Given the description of an element on the screen output the (x, y) to click on. 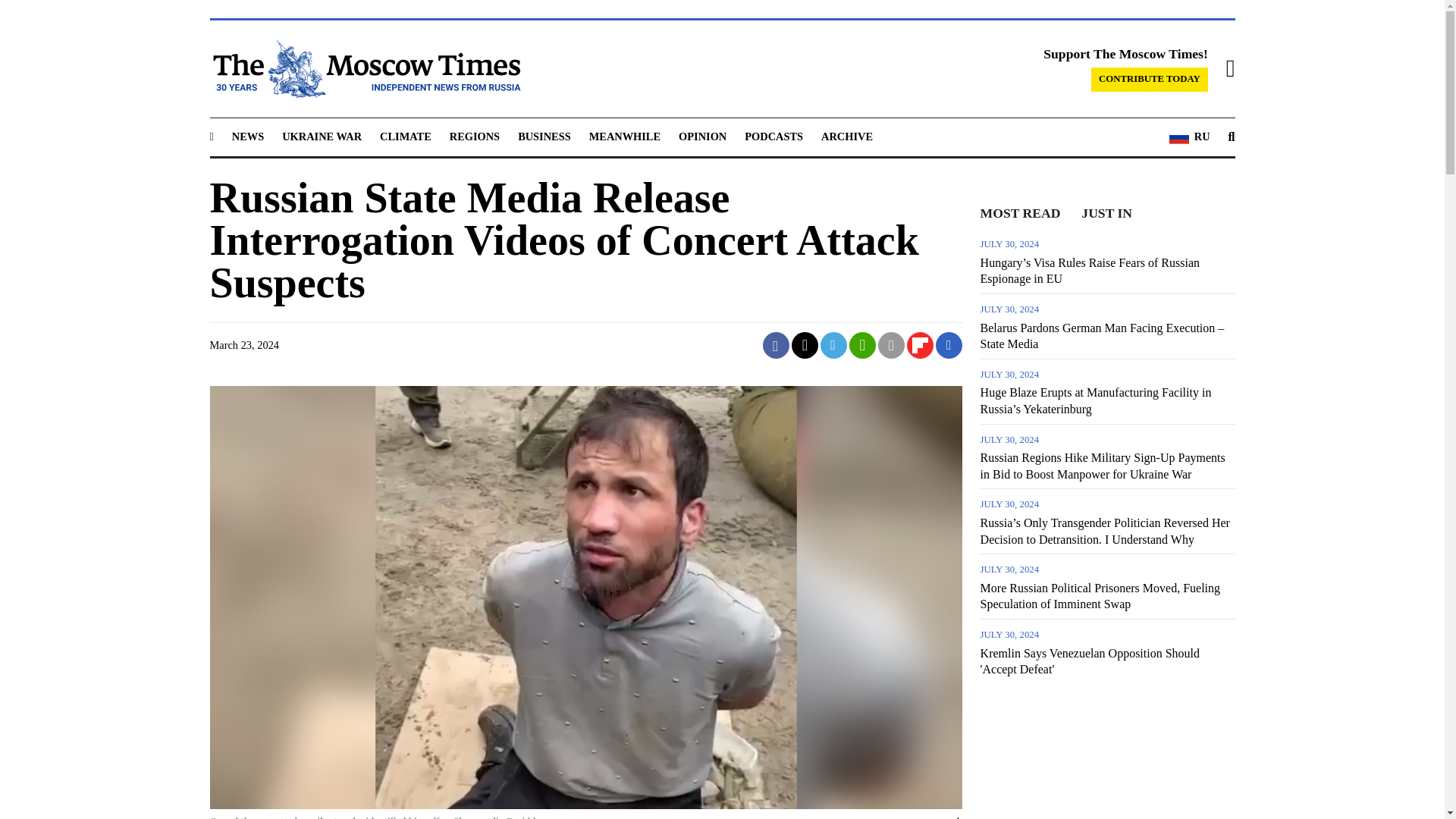
MEANWHILE (625, 136)
Share on Twitter (805, 345)
OPINION (702, 136)
Share on Facebook (775, 345)
ARCHIVE (846, 136)
CLIMATE (405, 136)
CONTRIBUTE TODAY (1149, 79)
UKRAINE WAR (321, 136)
Share on Flipboard (920, 345)
RU (1189, 137)
The Moscow Times - Independent News from Russia (364, 68)
NEWS (247, 136)
BUSINESS (544, 136)
Share on Telegram (834, 345)
PODCASTS (773, 136)
